Given the description of an element on the screen output the (x, y) to click on. 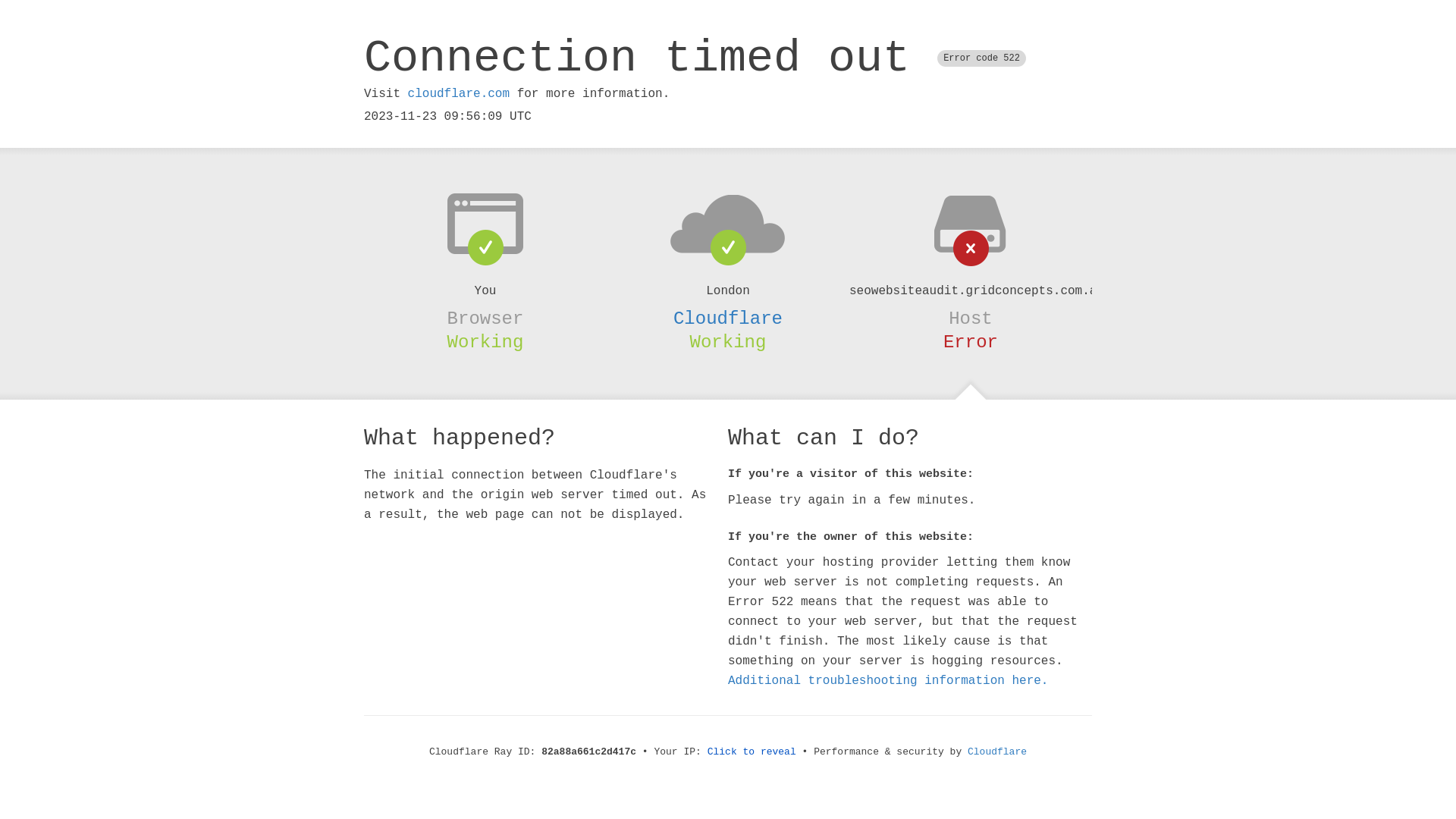
Click to reveal Element type: text (751, 751)
cloudflare.com Element type: text (458, 93)
Cloudflare Element type: text (996, 751)
Additional troubleshooting information here. Element type: text (888, 680)
Cloudflare Element type: text (727, 318)
